Given the description of an element on the screen output the (x, y) to click on. 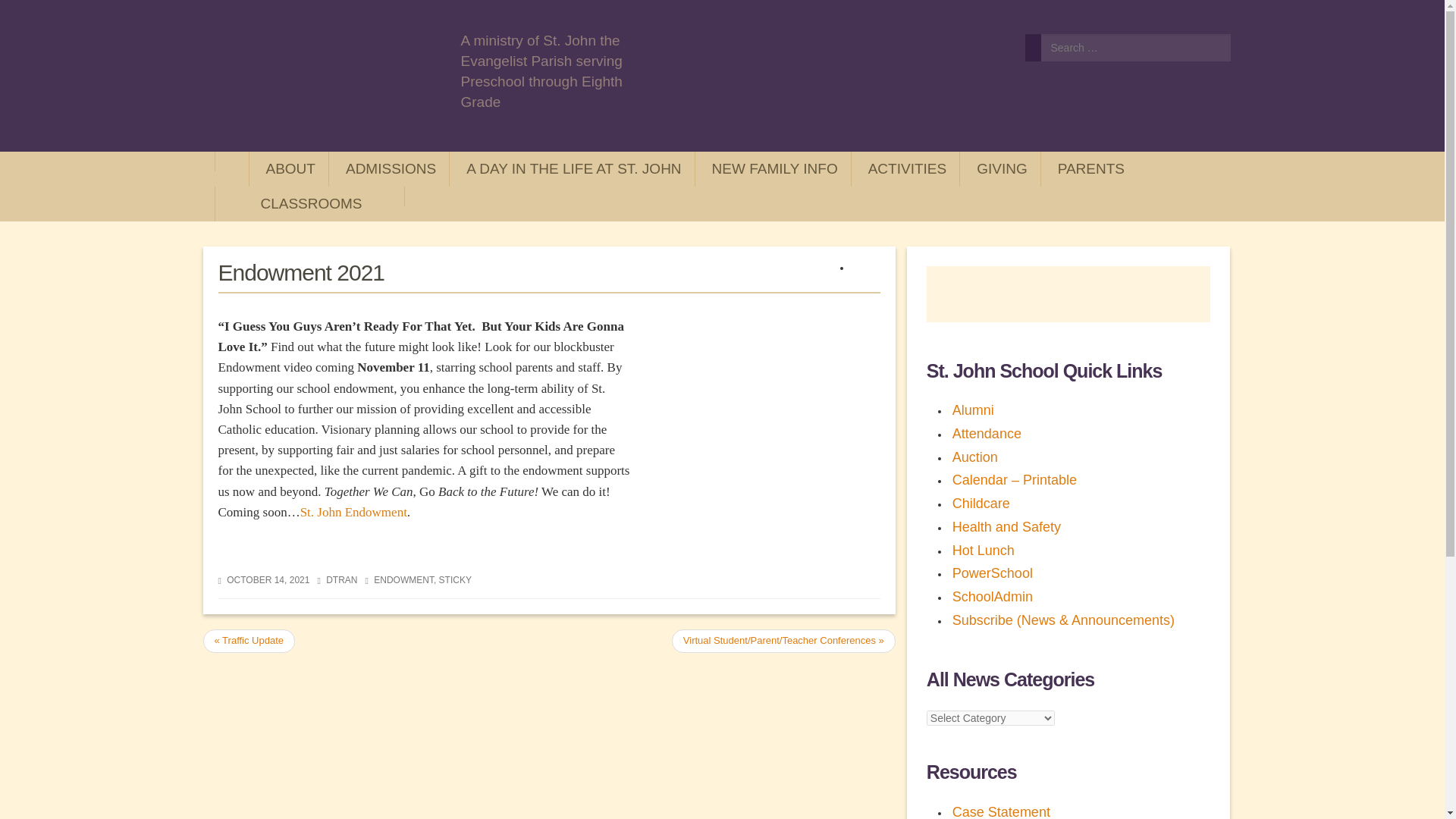
A DAY IN THE LIFE AT ST. JOHN (572, 168)
ADMISSIONS (388, 168)
Admissions (388, 168)
ACTIVITIES (905, 168)
NEW FAMILY INFO (772, 168)
GIVING (999, 168)
About (288, 168)
ABOUT (288, 168)
